Given the description of an element on the screen output the (x, y) to click on. 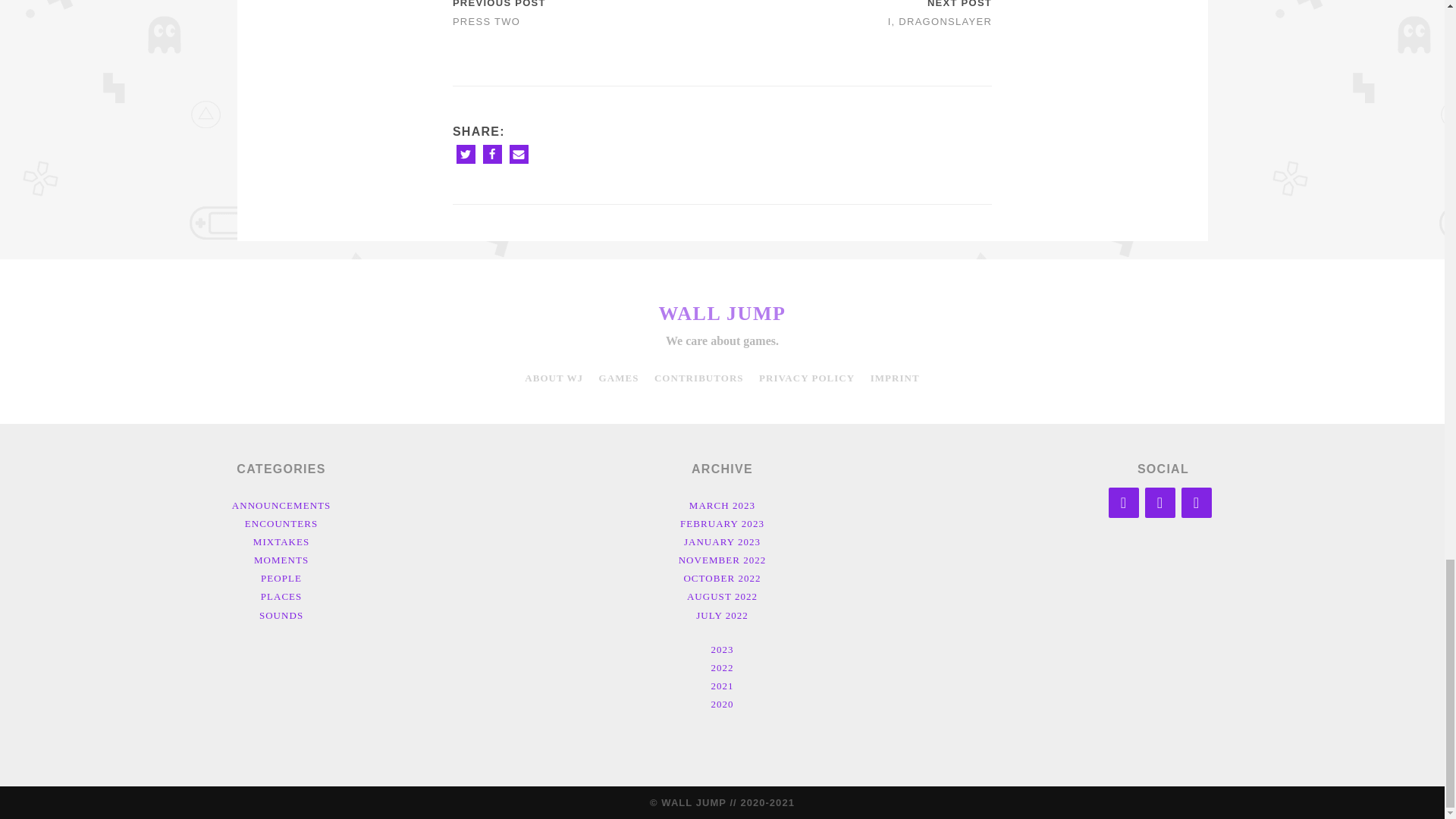
PRIVACY POLICY (806, 378)
IMPRINT (895, 378)
PRESS TWO (485, 21)
PEOPLE (280, 577)
I, DRAGONSLAYER (939, 21)
ABOUT WJ (553, 378)
WALL JUMP (722, 313)
CONTRIBUTORS (698, 378)
Send by email (518, 153)
ANNOUNCEMENTS (281, 505)
SOUNDS (280, 614)
ENCOUNTERS (280, 523)
JANUARY 2023 (722, 541)
Share on Twitter (466, 153)
FEBRUARY 2023 (721, 523)
